Given the description of an element on the screen output the (x, y) to click on. 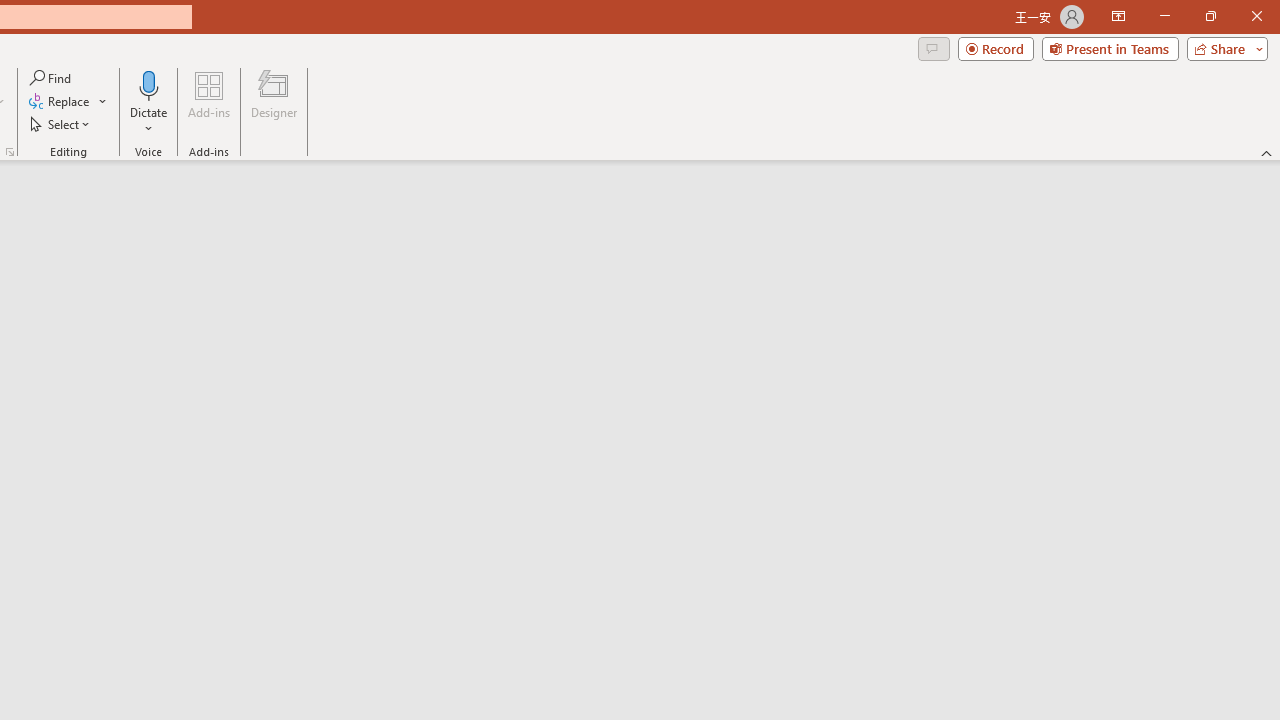
Format Object... (9, 151)
Find... (51, 78)
